Given the description of an element on the screen output the (x, y) to click on. 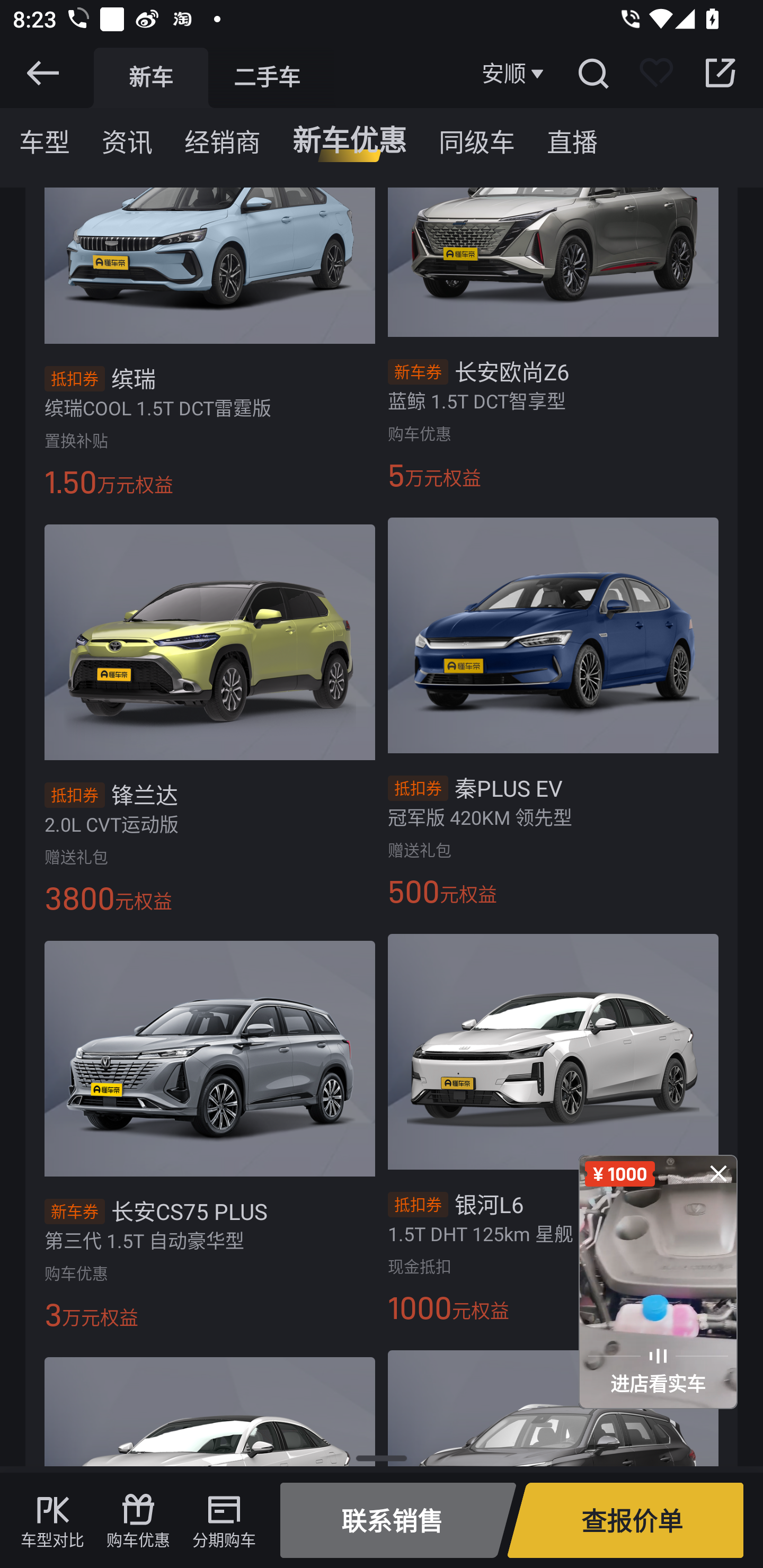
新车 (150, 77)
二手车 (266, 77)
 (42, 72)
 (592, 72)
 (720, 72)
安顺 (514, 73)
车型 (44, 135)
资讯 (126, 135)
经销商 (222, 135)
新车优惠 (349, 135)
同级车 (476, 135)
直播 (572, 135)
抵扣券 缤瑞 缤瑞COOL 1.5T DCT雷霆版 置换补贴 1.50 万元权益 (203, 352)
新车券 长安欧尚Z6 蓝鲸 1.5T DCT智享型 购车优惠 5 万元权益 (559, 349)
抵扣券 秦PLUS EV 冠军版 420KM 领先型 赠送礼包 500 元权益 (559, 719)
抵扣券 锋兰达 2.0L CVT运动版 赠送礼包 3800 元权益 (203, 725)
抵扣券 银河L6 1.5T DHT 125km 星舰 现金抵扣 1000 元权益 (559, 1135)
新车券 长安CS75 PLUS 第三代 1.5T 自动豪华型 购车优惠 3 万元权益 (203, 1142)
 (718, 1173)
车型对比 (52, 1520)
购车优惠 (138, 1520)
分期购车 (224, 1520)
联系销售 (398, 1519)
查报价单 (625, 1519)
